Given the description of an element on the screen output the (x, y) to click on. 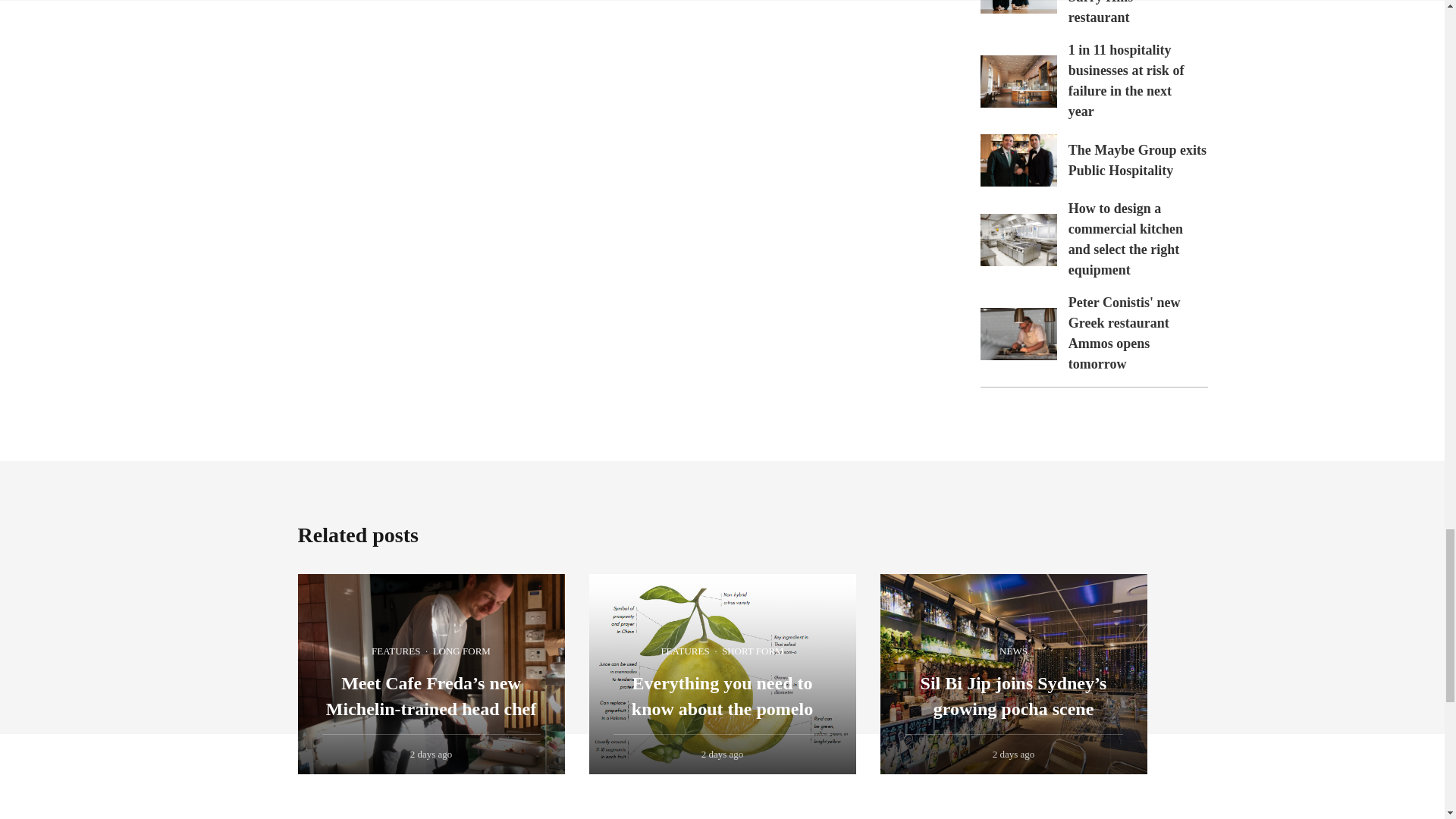
The Maybe Group exits Public Hospitality (1137, 160)
Peter Conistis' new Greek restaurant Ammos opens tomorrow (1124, 332)
The Apollo Group announces 200-seater Surry Hills restaurant (1018, 6)
The Maybe Group exits Public Hospitality (1018, 160)
Peter Conistis' new Greek restaurant Ammos opens tomorrow (1018, 333)
View all posts in Features (395, 651)
The Apollo Group announces 200-seater Surry Hills restaurant (1130, 12)
